Given the description of an element on the screen output the (x, y) to click on. 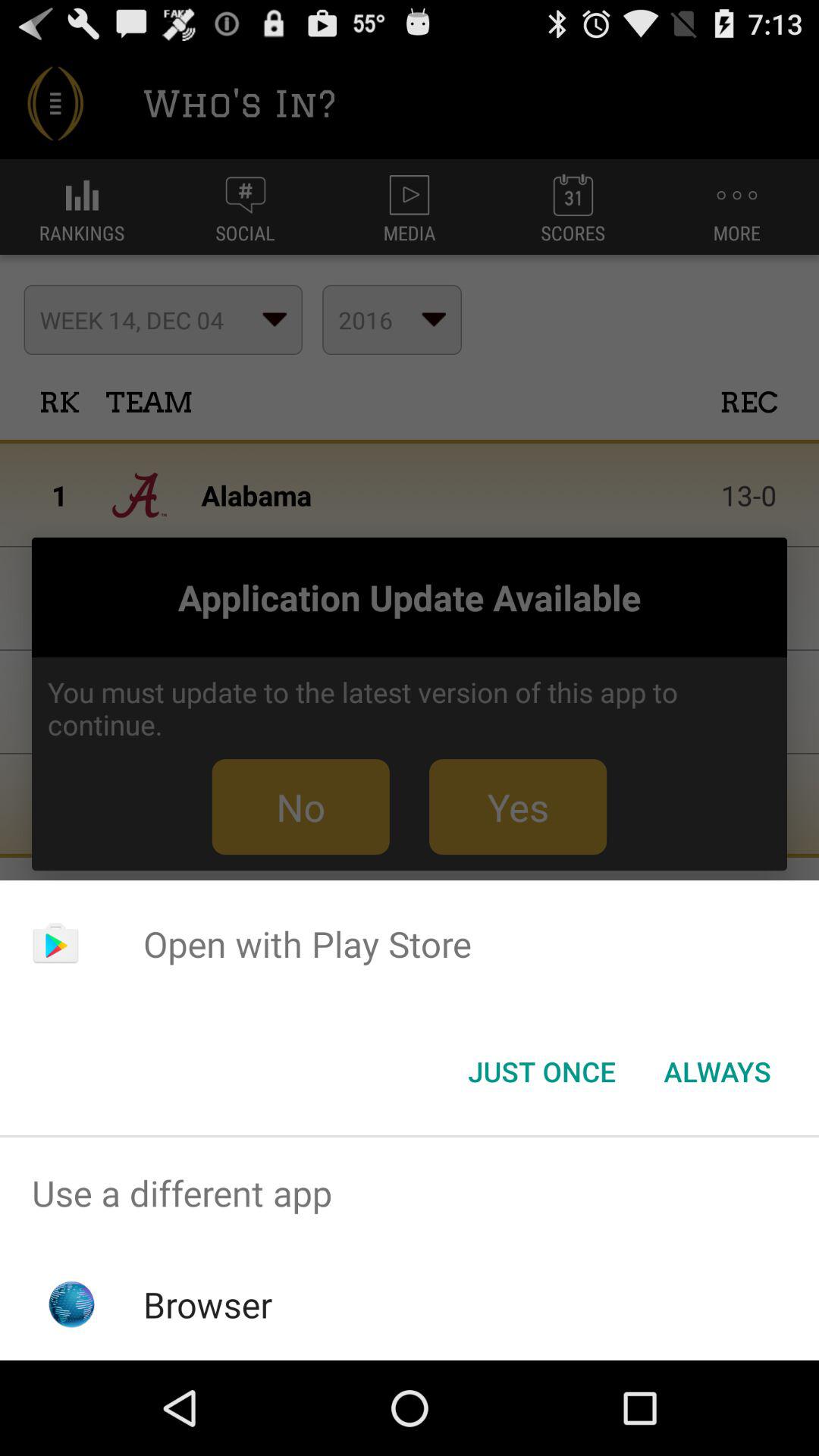
select item next to just once icon (717, 1071)
